Given the description of an element on the screen output the (x, y) to click on. 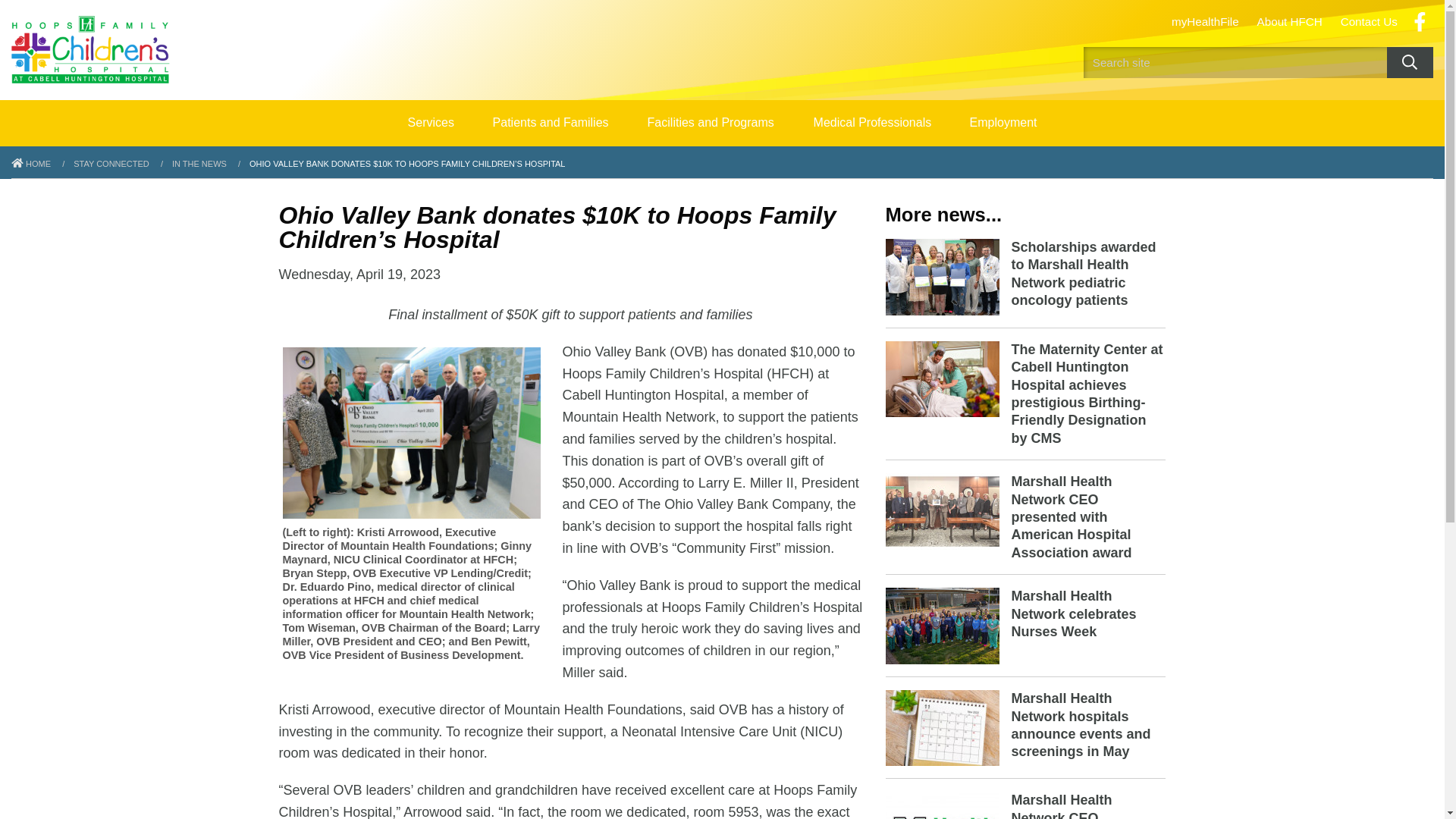
Services (431, 122)
About HFCH (1289, 21)
myHealthFile (1204, 21)
Contact Us (1369, 21)
Medical Professionals (871, 122)
Employment (1003, 122)
Facilities and Programs (710, 122)
Patients and Families (550, 122)
Facebook (1420, 21)
